Given the description of an element on the screen output the (x, y) to click on. 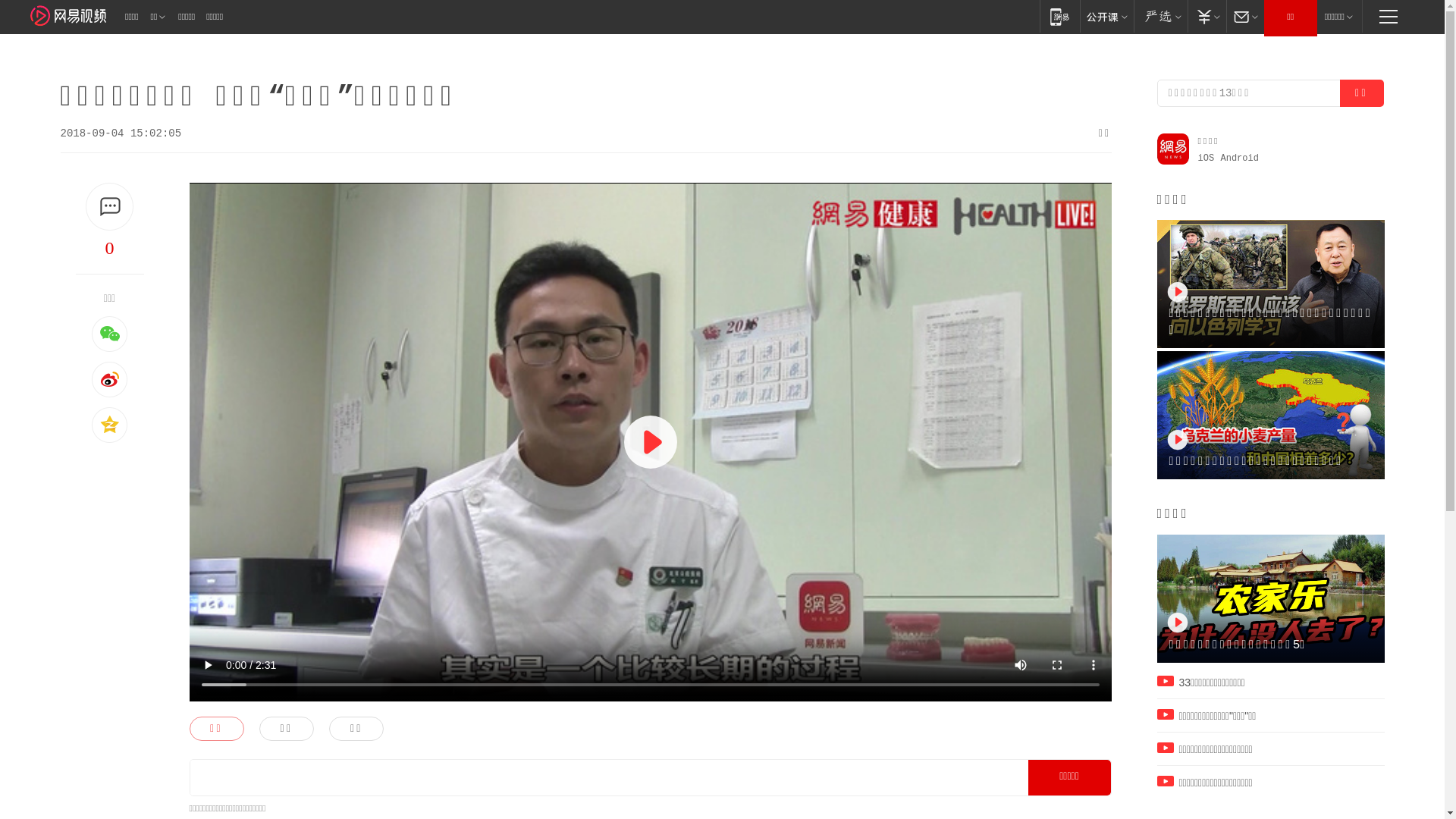
iOS Element type: text (1206, 158)
Android Element type: text (1239, 158)
0 Element type: text (109, 247)
